Given the description of an element on the screen output the (x, y) to click on. 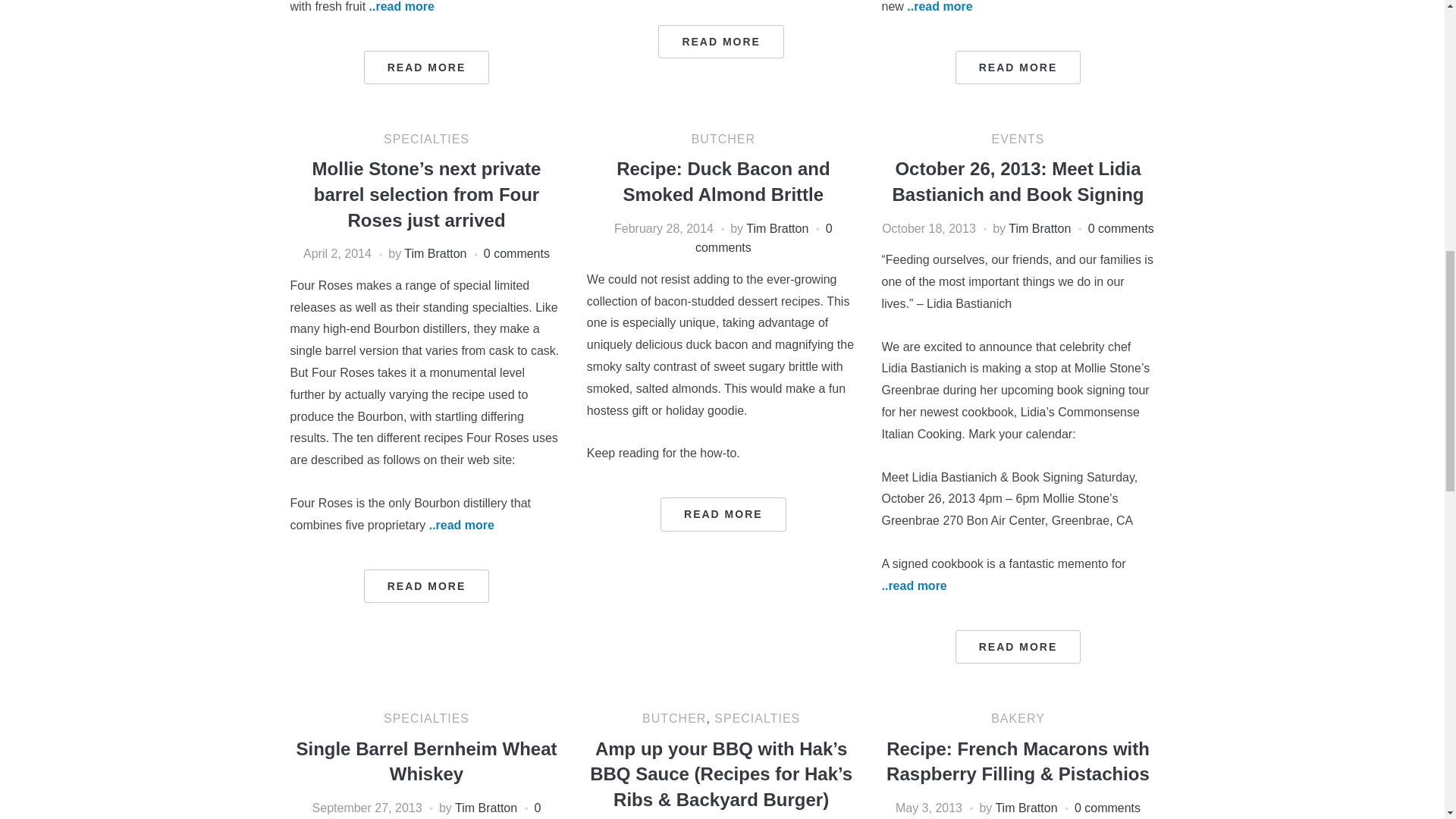
0 comments (516, 253)
READ MORE (1018, 66)
READ MORE (426, 66)
..read more (939, 6)
READ MORE (721, 41)
Posts by Tim Bratton (485, 807)
Posts by Tim Bratton (776, 228)
Permalink to Recipe: Duck Bacon and Smoked Almond Brittle (723, 513)
..read more (401, 6)
Posts by Tim Bratton (434, 253)
Tim Bratton (434, 253)
SPECIALTIES (426, 138)
